Given the description of an element on the screen output the (x, y) to click on. 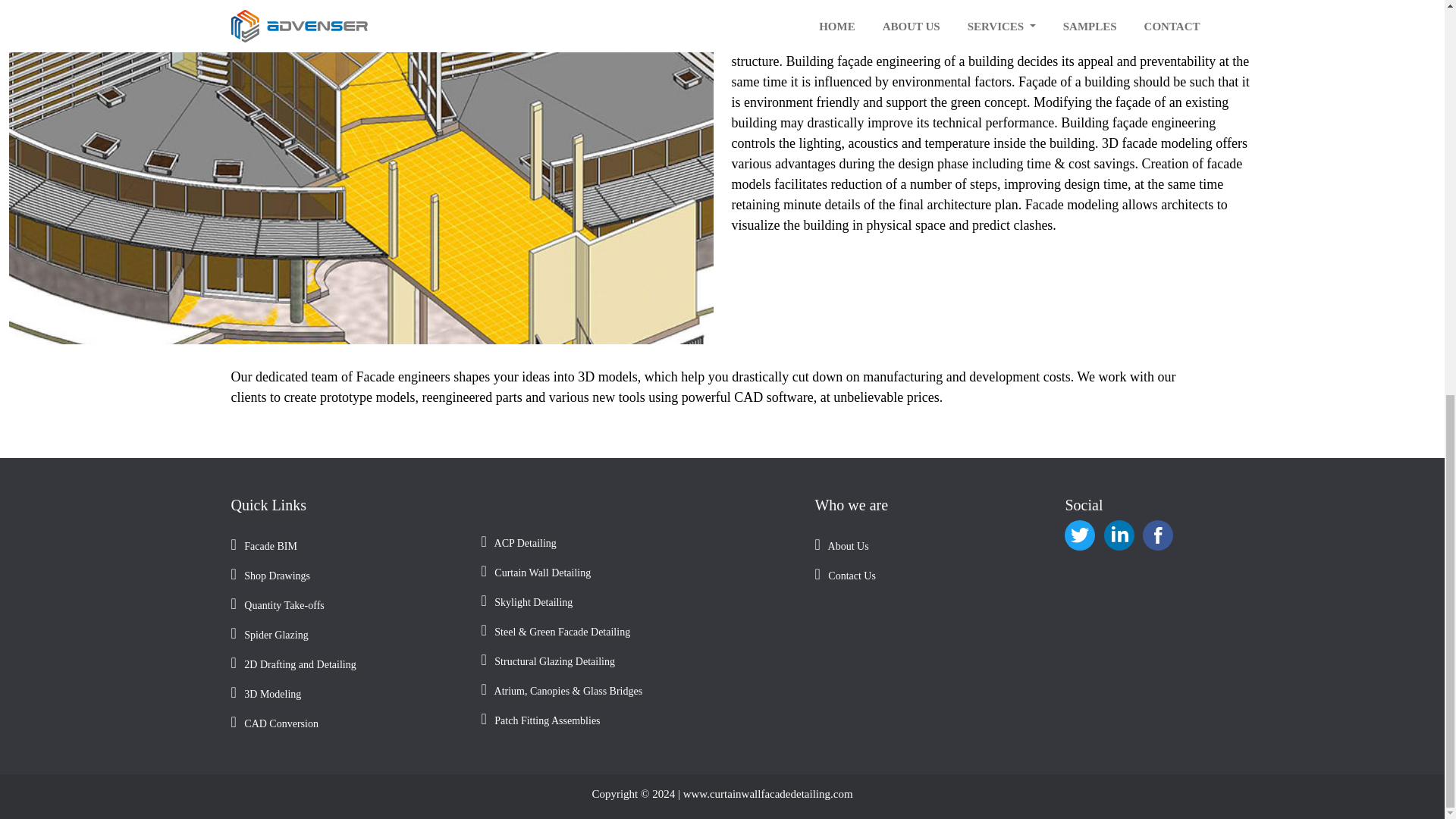
   ACP Detailing (638, 542)
   Shop Drawings (346, 574)
   Quantity Take-offs (346, 604)
   Spider Glazing (346, 633)
   Facade BIM (346, 545)
   2D Drafting and Detailing (346, 663)
   CAD Conversion (346, 723)
   3D Modeling (346, 692)
